Given the description of an element on the screen output the (x, y) to click on. 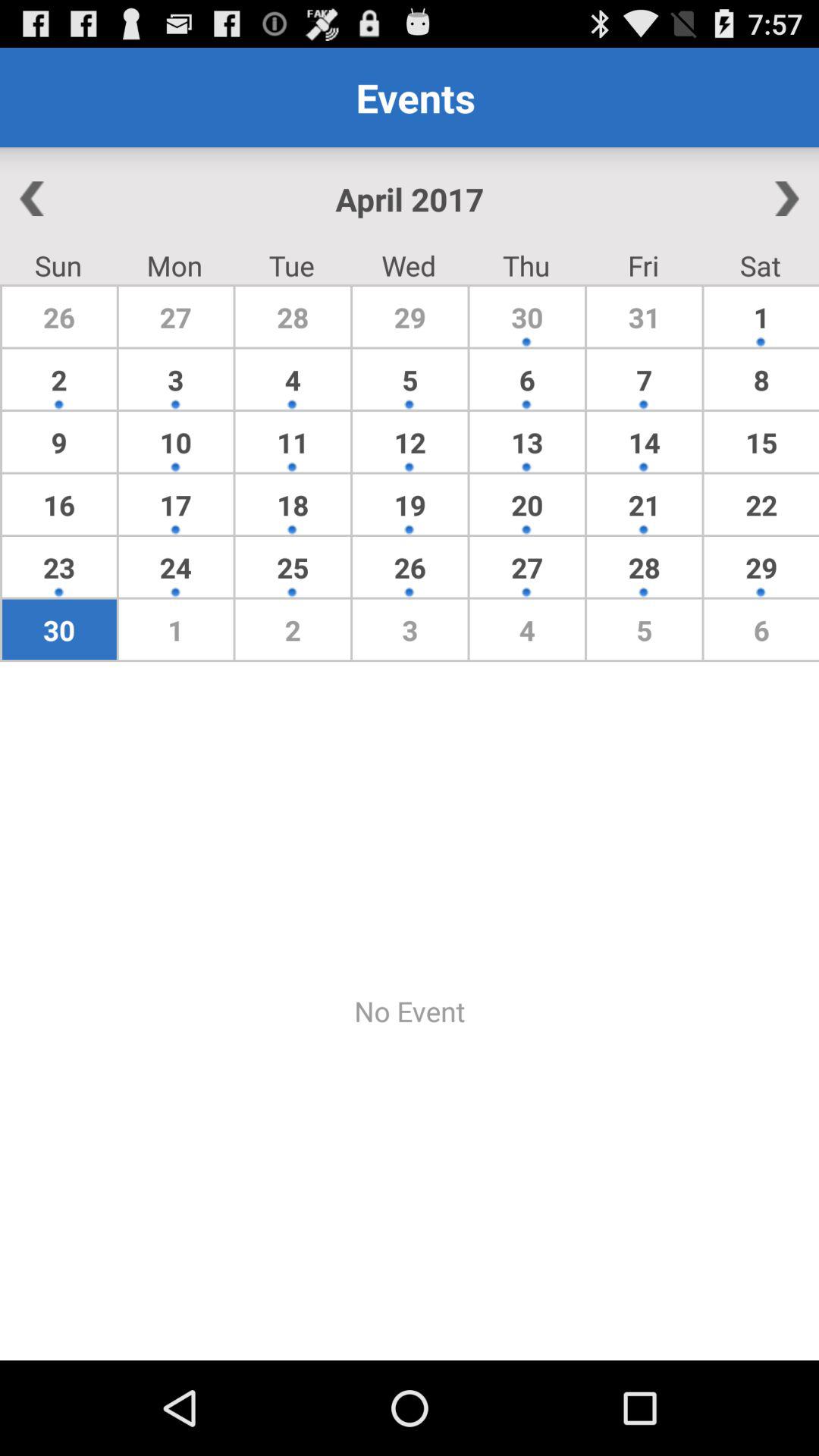
turn on the icon next to april 2017 icon (735, 198)
